Given the description of an element on the screen output the (x, y) to click on. 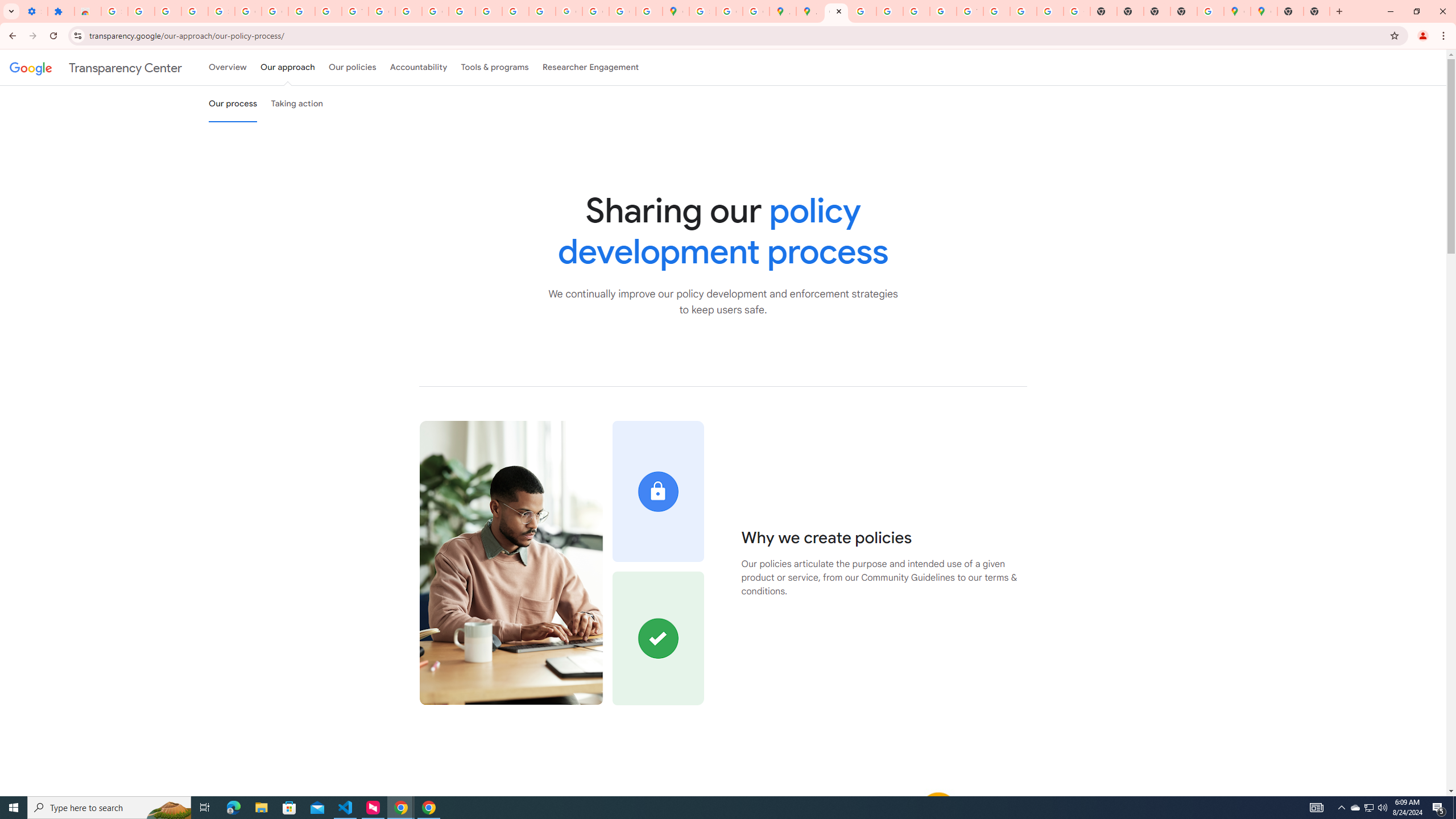
Delete photos & videos - Computer - Google Photos Help (141, 11)
Tools & programs (494, 67)
Google Account Help (248, 11)
